Given the description of an element on the screen output the (x, y) to click on. 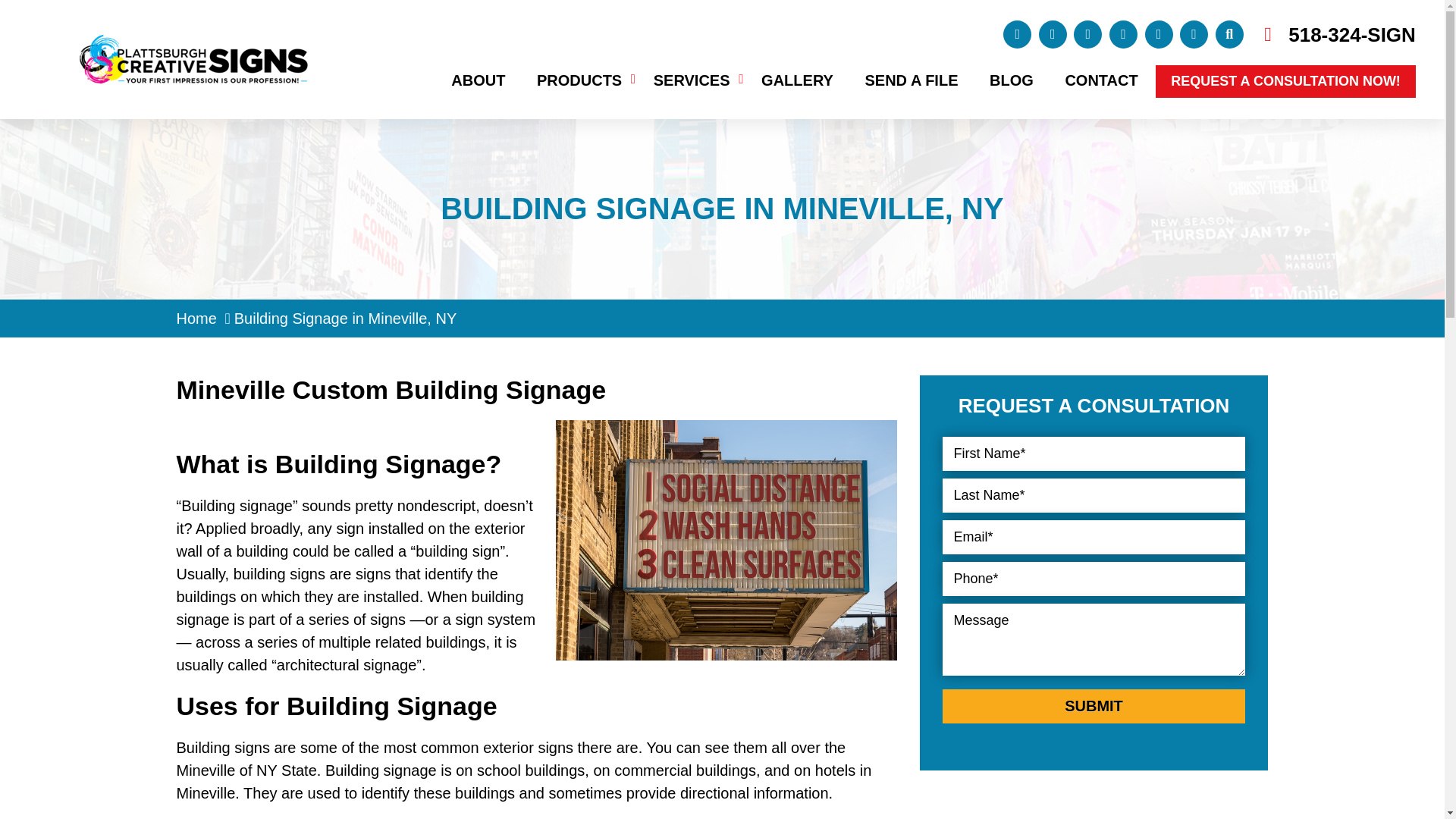
ABOUT (478, 79)
Plattsburgh Creative Signs (193, 45)
PRODUCTS (578, 79)
Submit (1093, 706)
518-324-SIGN (1351, 33)
Go to Plattsburgh Creative Signs. (195, 318)
